Given the description of an element on the screen output the (x, y) to click on. 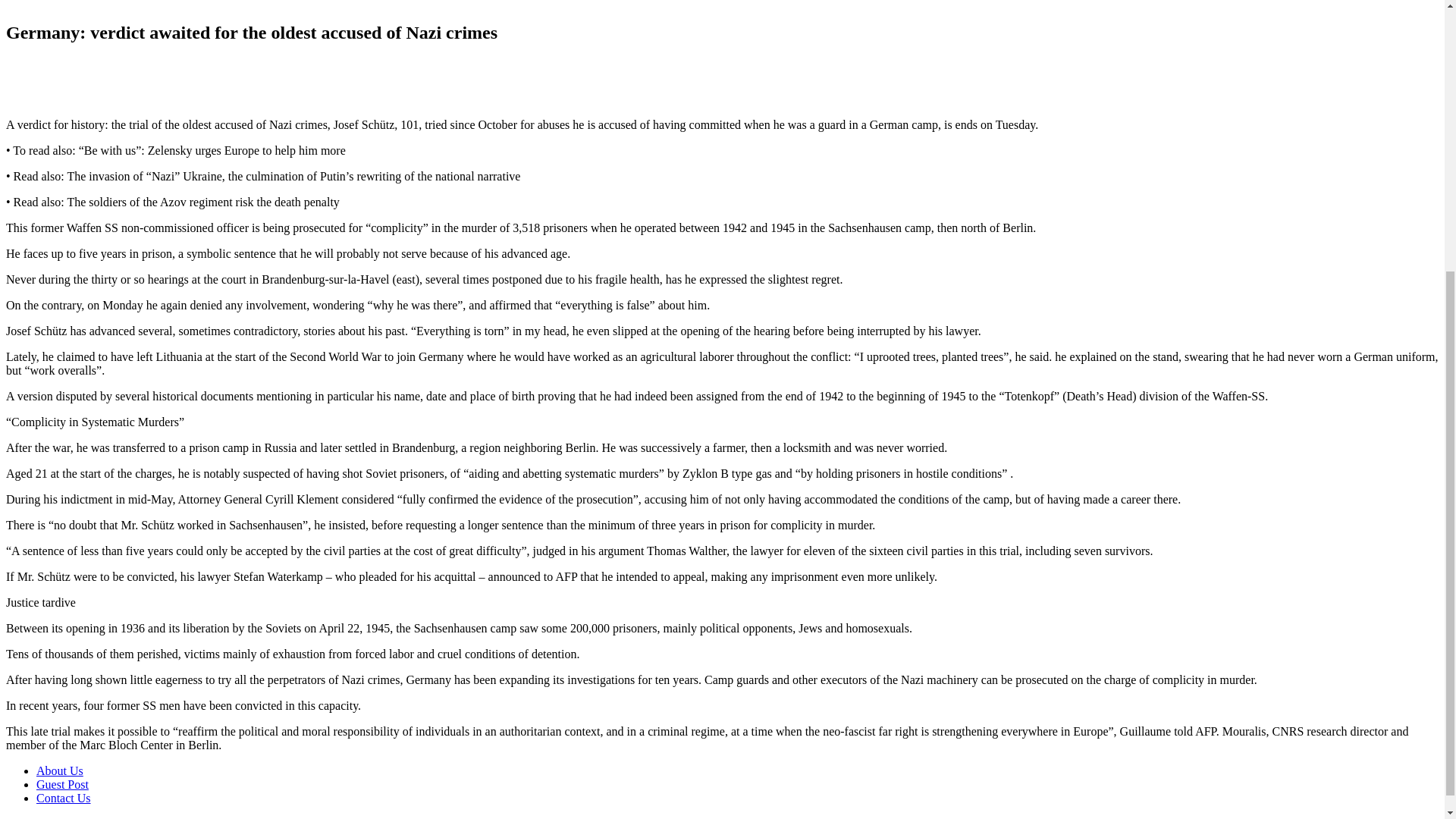
Contact Us (63, 797)
About Us (59, 770)
Guest Post (62, 784)
